Given the description of an element on the screen output the (x, y) to click on. 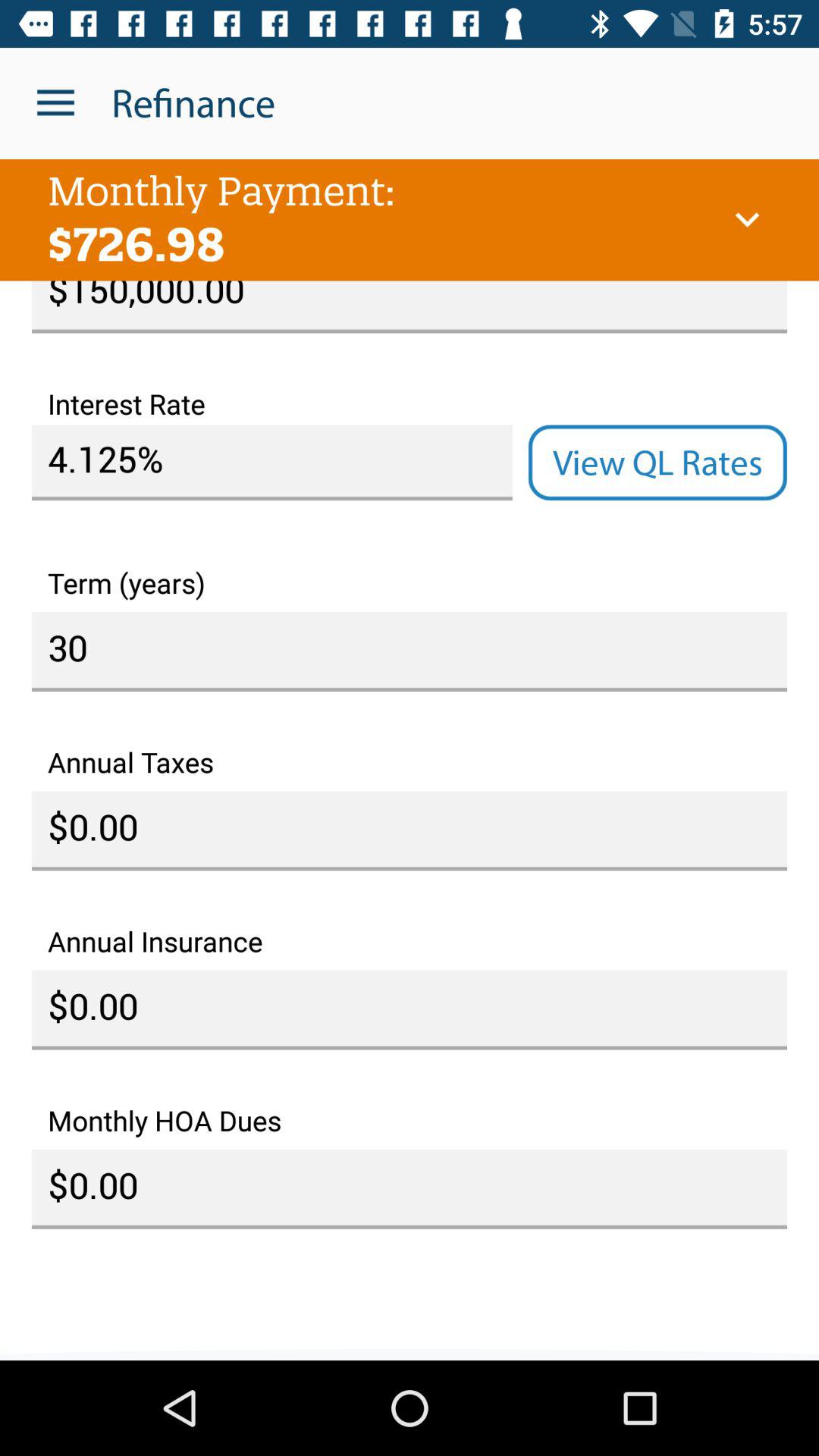
launch the icon to the left of the refinance icon (55, 103)
